Given the description of an element on the screen output the (x, y) to click on. 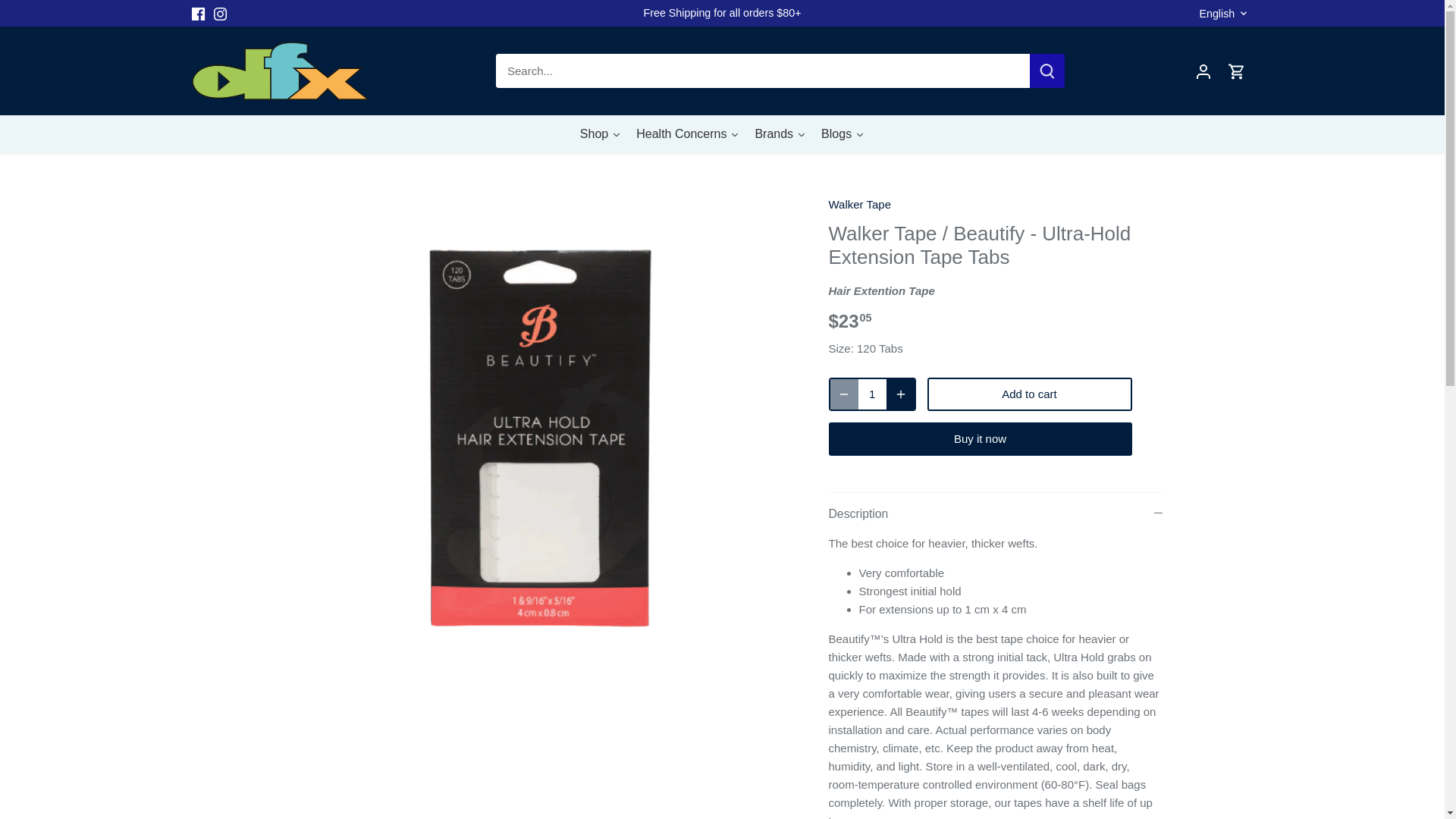
Blogs (842, 134)
Blogs (842, 134)
Health Concerns (687, 134)
Walker Tape (859, 204)
Add to cart (1028, 394)
1 (872, 394)
Brands (779, 134)
Shop (600, 134)
Buy it now (979, 438)
Shop (600, 134)
English (1224, 13)
Instagram (220, 13)
Brands (779, 134)
Facebook (196, 13)
Health Concerns (687, 134)
